Given the description of an element on the screen output the (x, y) to click on. 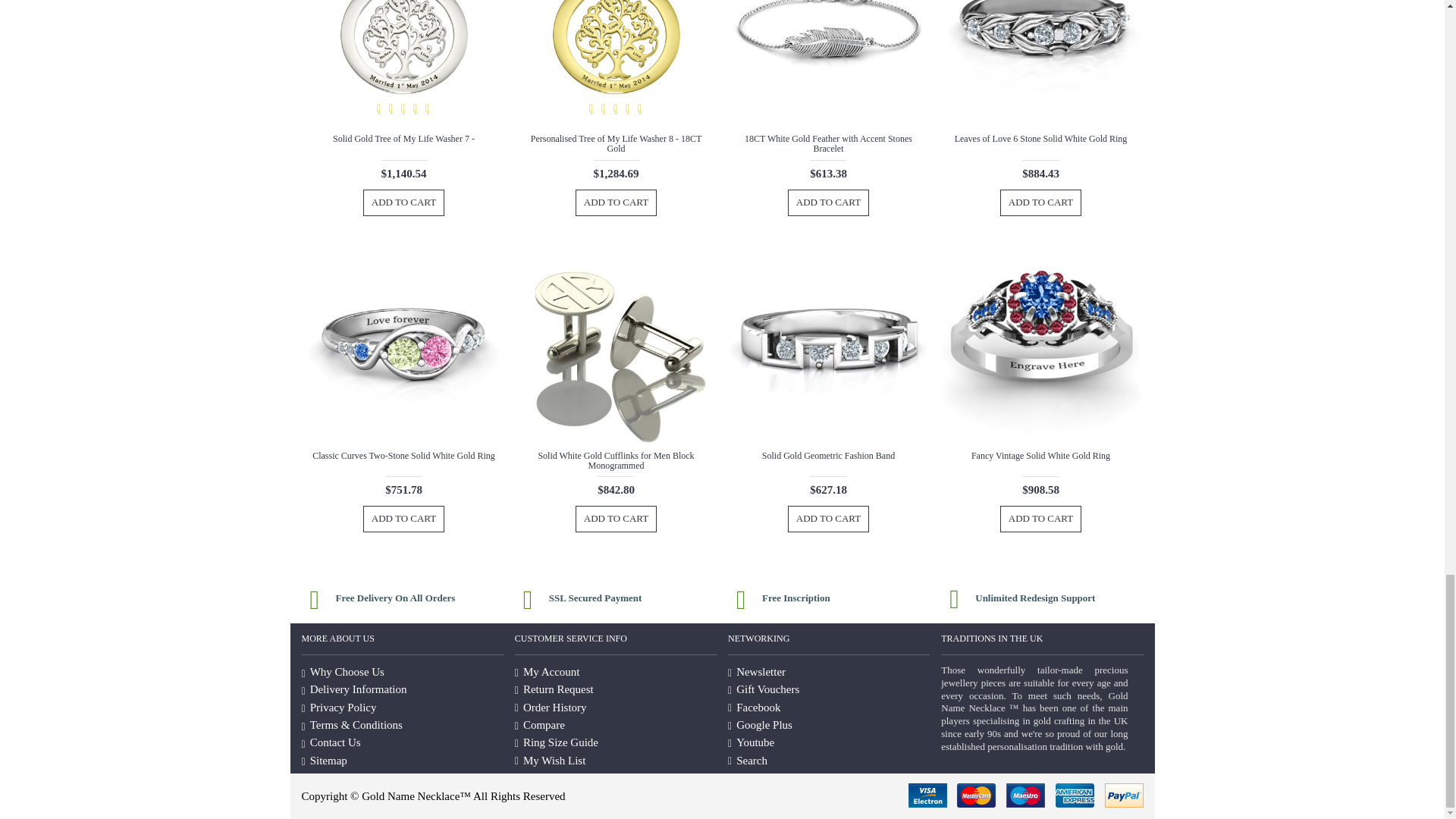
Fancy Vintage Solid White Gold Ring (1040, 344)
18CT White Gold Feather with Accent Stones Bracelet (827, 63)
Leaves of Love 6 Stone Solid White Gold Ring (1040, 63)
Solid White Gold Cufflinks for Men Block Monogrammed (615, 344)
Solid Gold Tree of My Life Washer 7 - (403, 63)
Classic Curves Two-Stone Solid White Gold Ring (403, 344)
Personalised Tree of My Life Washer 8 - 18CT Gold (615, 63)
Solid Gold Geometric Fashion Band (827, 344)
